Given the description of an element on the screen output the (x, y) to click on. 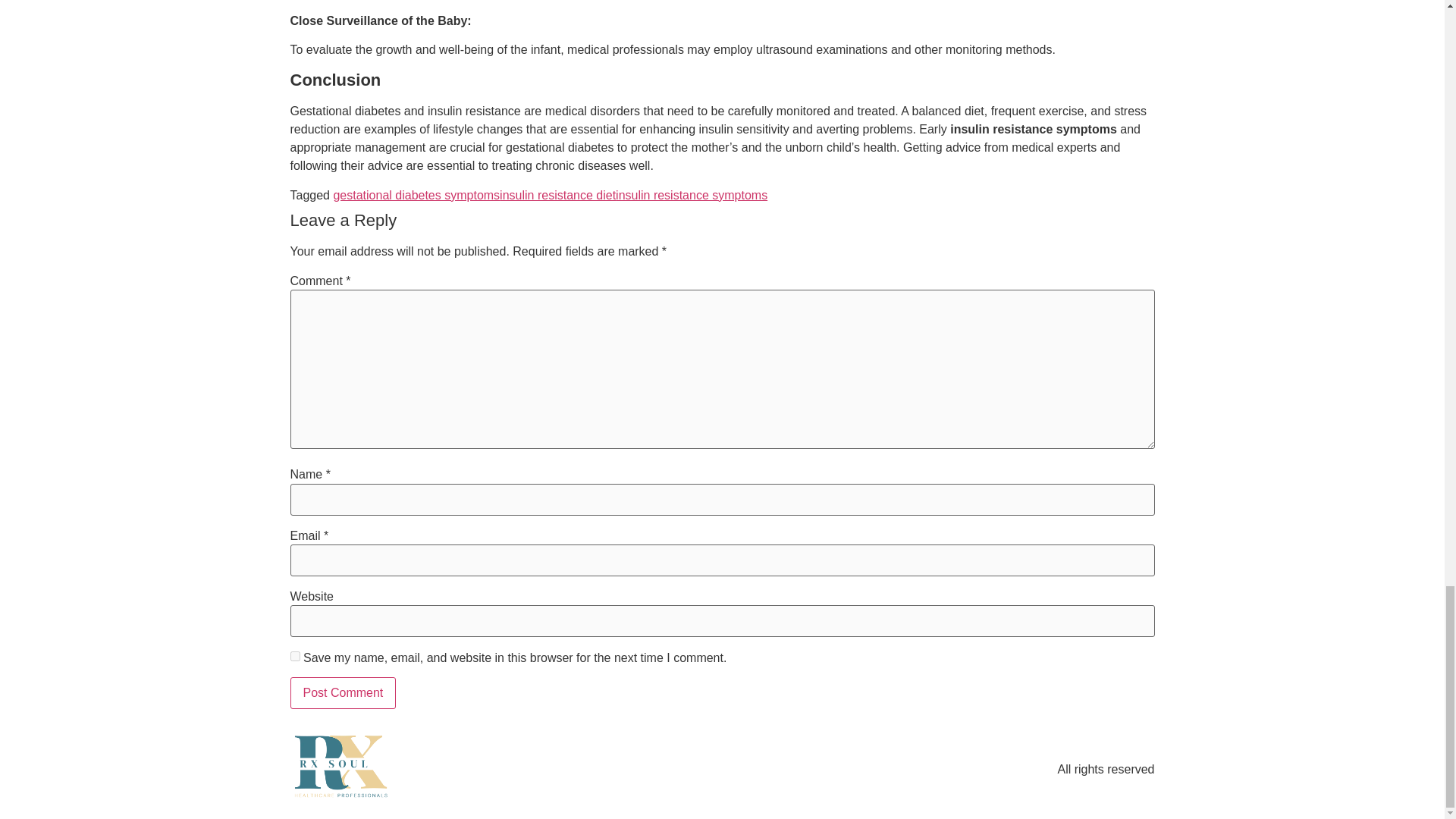
gestational diabetes symptoms (416, 195)
yes (294, 655)
Post Comment (342, 693)
insulin resistance symptoms (691, 195)
insulin resistance diet (557, 195)
Post Comment (342, 693)
